Given the description of an element on the screen output the (x, y) to click on. 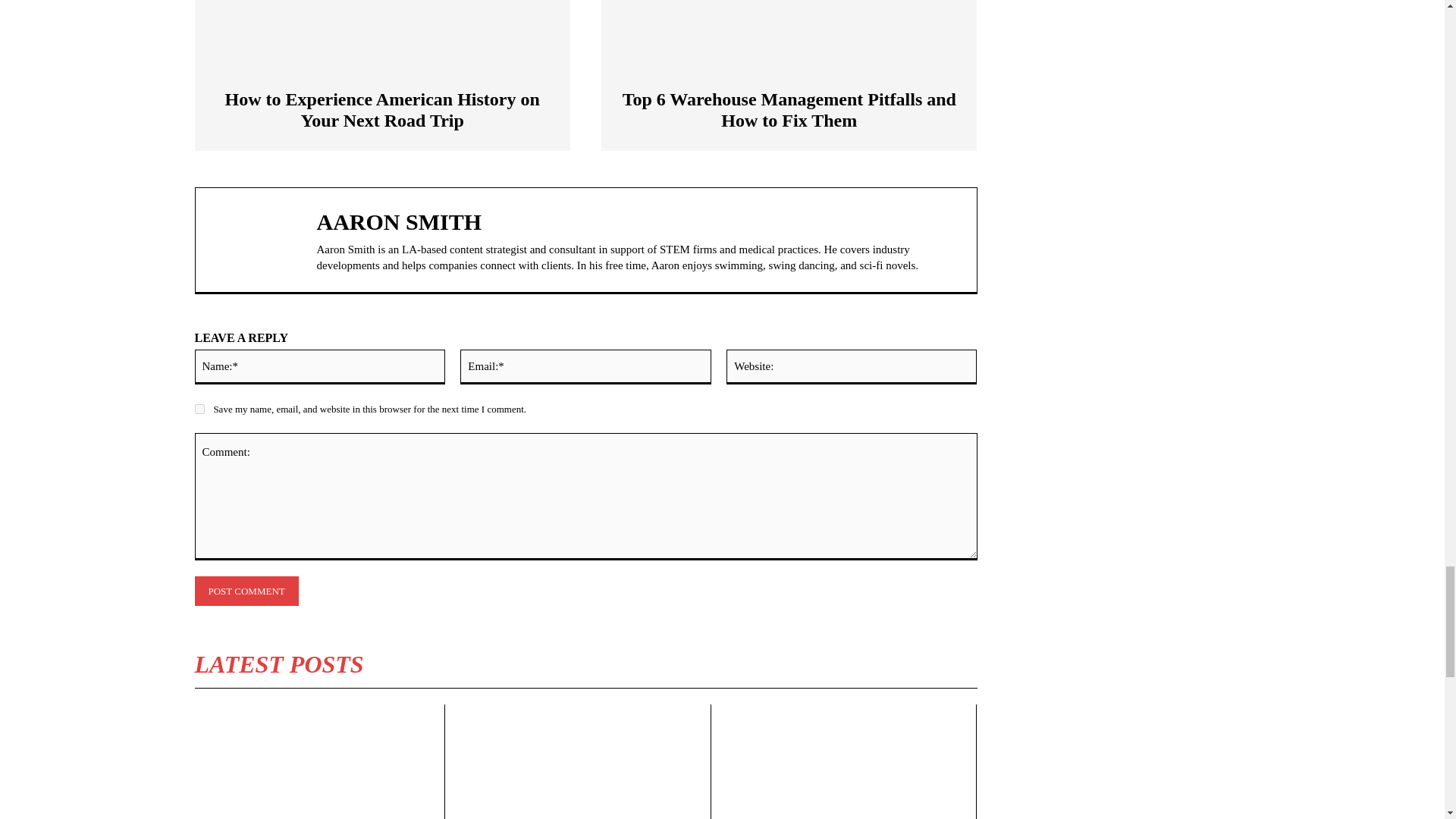
yes (198, 409)
Post Comment (245, 591)
